Given the description of an element on the screen output the (x, y) to click on. 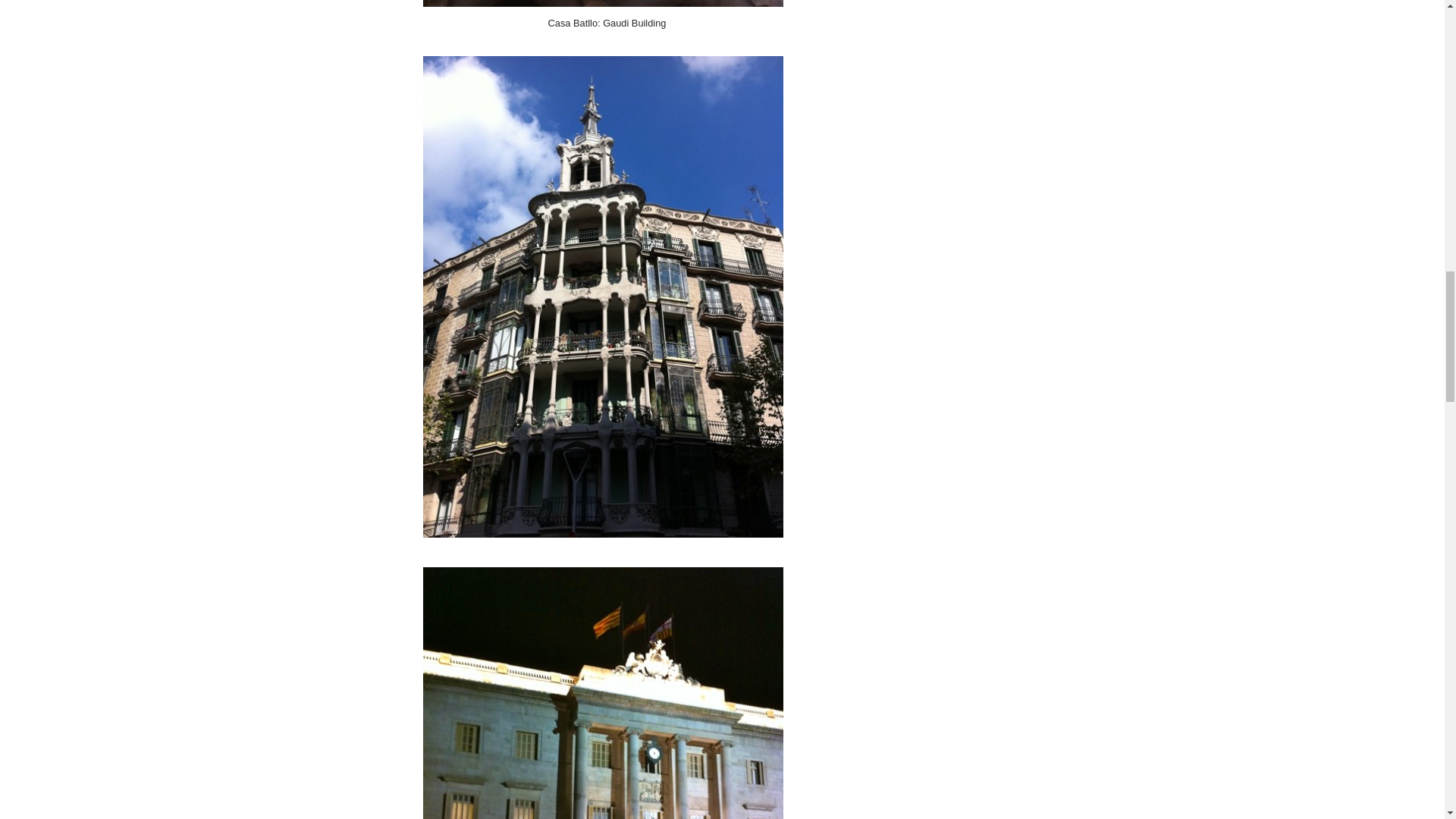
Casa Batllo Gaudi Building (603, 3)
Government Building Barcelona (603, 693)
